Given the description of an element on the screen output the (x, y) to click on. 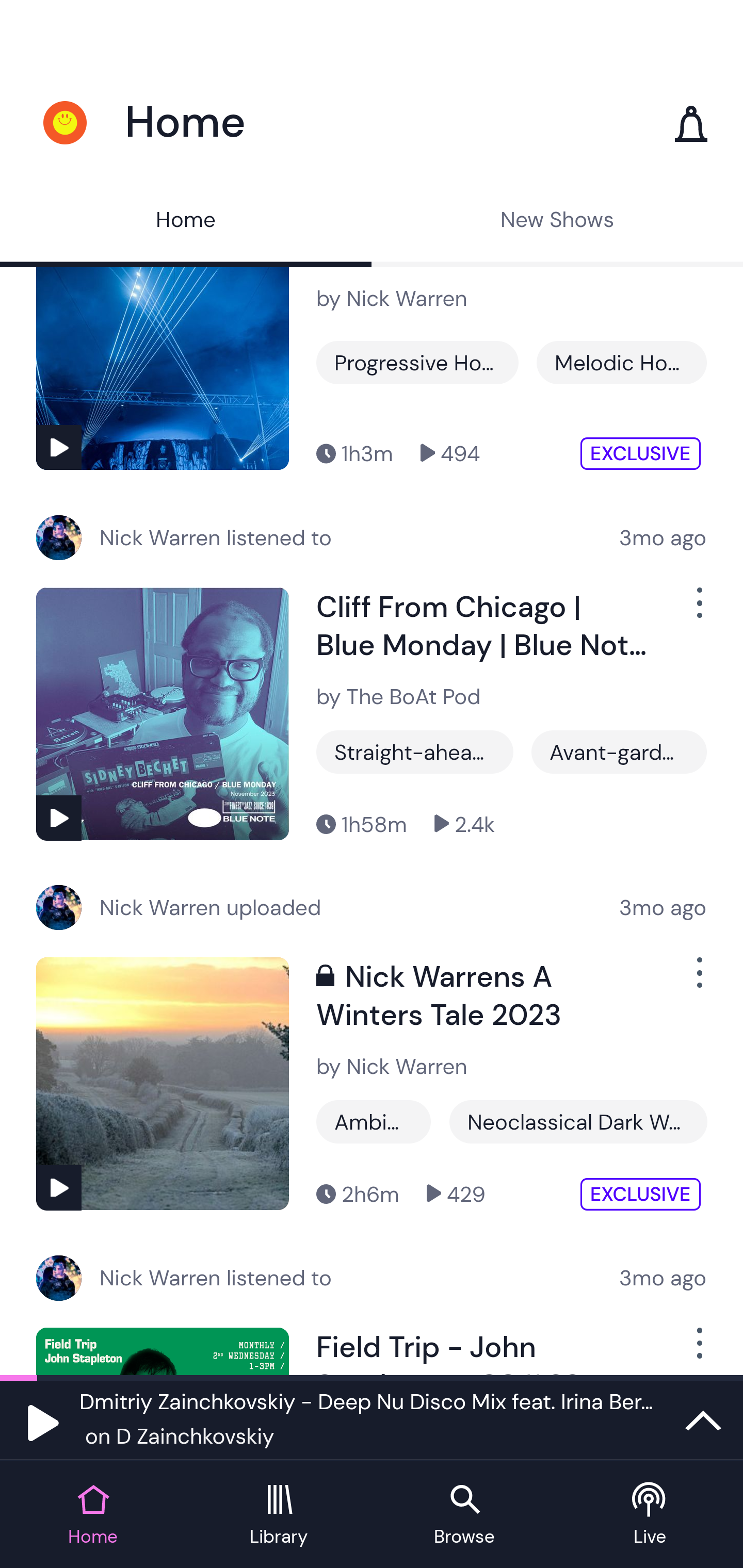
Home (185, 221)
New Shows (557, 221)
Progressive House (417, 362)
Melodic House (621, 362)
Show Options Menu Button (697, 611)
Straight-ahead Jazz (414, 751)
Avant-garde Jazz (618, 751)
Show Options Menu Button (697, 980)
Ambient (373, 1121)
Neoclassical Dark Wave (577, 1121)
Show Options Menu Button (697, 1351)
Home tab Home (92, 1515)
Library tab Library (278, 1515)
Browse tab Browse (464, 1515)
Live tab Live (650, 1515)
